Given the description of an element on the screen output the (x, y) to click on. 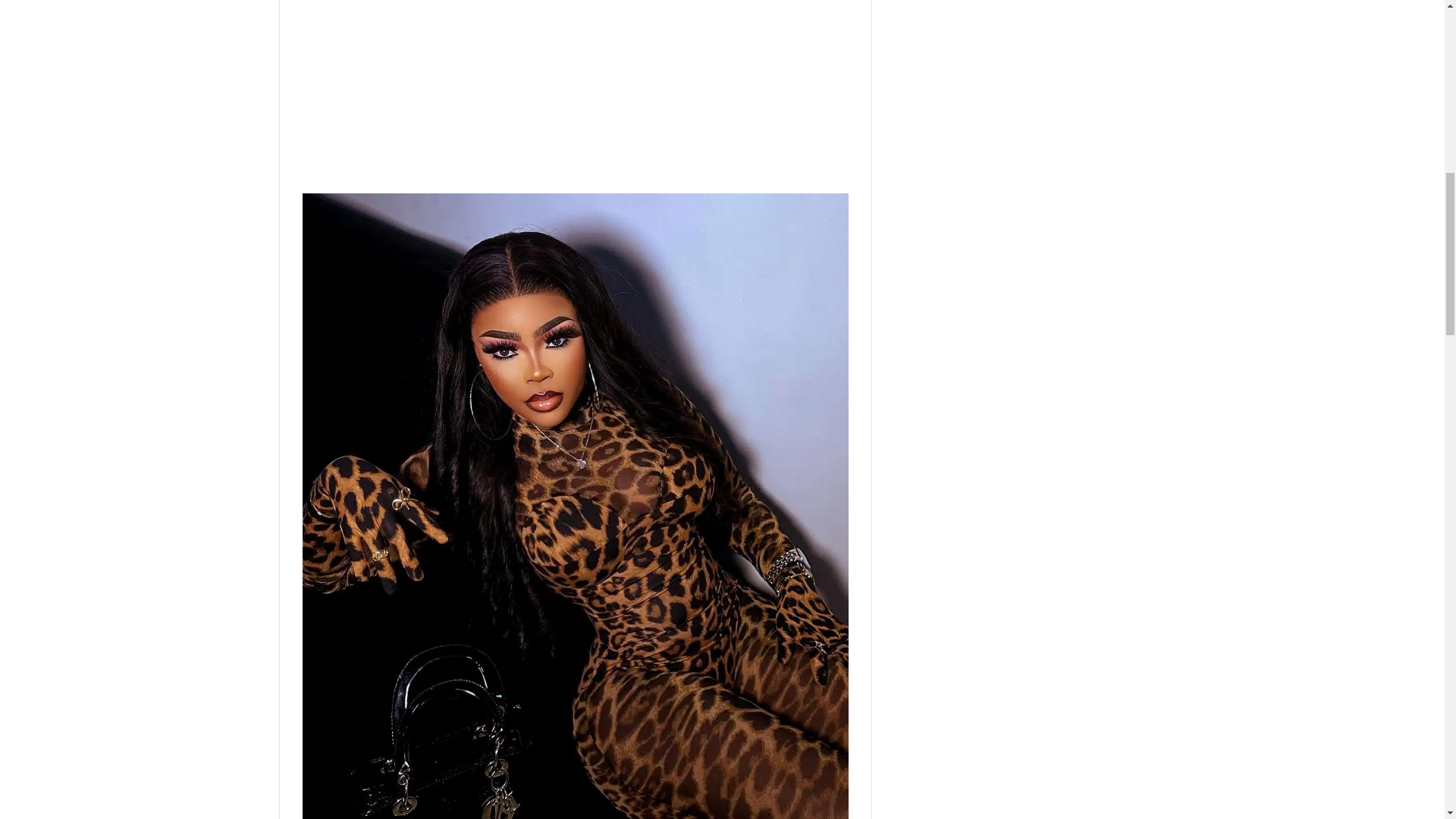
Advertisement (574, 94)
